Given the description of an element on the screen output the (x, y) to click on. 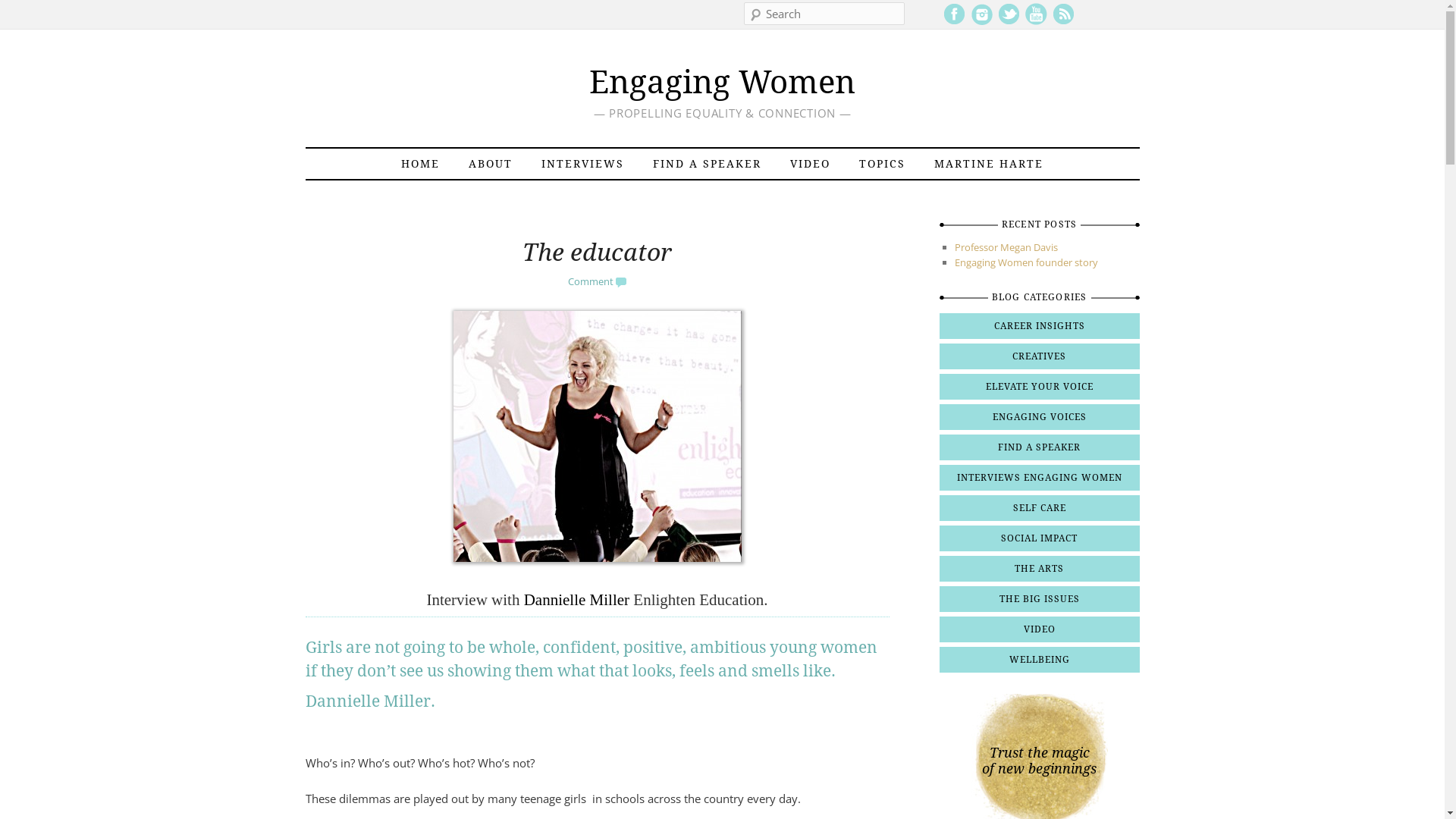
Professor Megan Davis Element type: text (1005, 247)
FIND A SPEAKER Element type: text (1038, 447)
Subscribe to RSS Element type: hover (1062, 21)
Follow on You Tube Element type: hover (1035, 21)
INTERVIEWS Element type: text (582, 163)
Engaging Women Element type: text (722, 81)
TOPICS Element type: text (882, 163)
Skip to content Element type: text (351, 163)
ABOUT Element type: text (490, 163)
Engaging Women founder story Element type: text (1025, 261)
Search Element type: text (21, 9)
ENGAGING VOICES Element type: text (1038, 416)
ELEVATE YOUR VOICE Element type: text (1038, 386)
SOCIAL IMPACT Element type: text (1038, 538)
THE ARTS Element type: text (1038, 568)
MARTINE HARTE Element type: text (988, 163)
CREATIVES Element type: text (1038, 356)
HOME Element type: text (420, 163)
Follow on Instagram Element type: hover (980, 21)
WELLBEING Element type: text (1038, 659)
FIND A SPEAKER Element type: text (706, 163)
INTERVIEWS ENGAGING WOMEN Element type: text (1038, 477)
THE BIG ISSUES Element type: text (1038, 598)
VIDEO Element type: text (810, 163)
VIDEO Element type: text (1038, 629)
Comment Element type: text (596, 281)
SELF CARE Element type: text (1038, 507)
CAREER INSIGHTS Element type: text (1038, 325)
Follow on Twitter Element type: hover (1007, 21)
Follow on Facebook Element type: hover (953, 21)
